Given the description of an element on the screen output the (x, y) to click on. 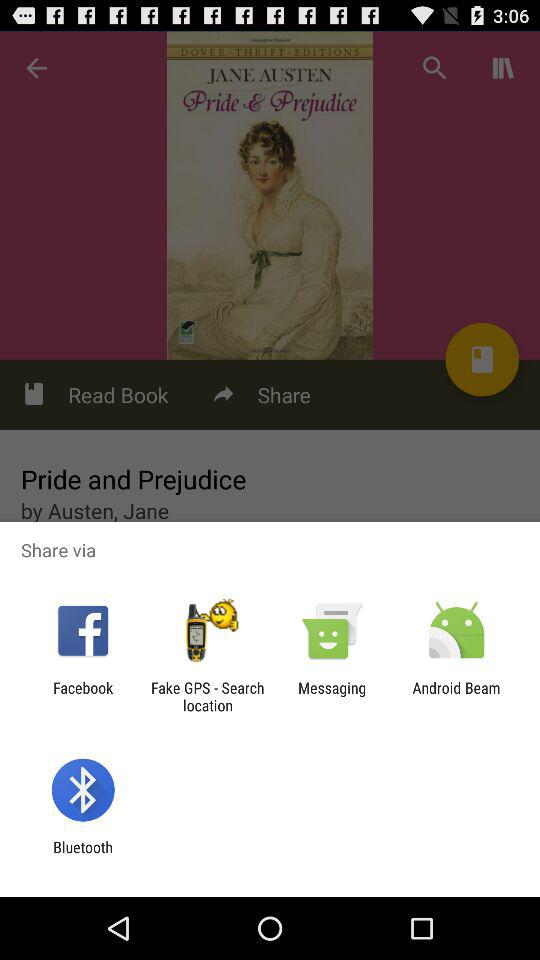
tap the messaging app (332, 696)
